Given the description of an element on the screen output the (x, y) to click on. 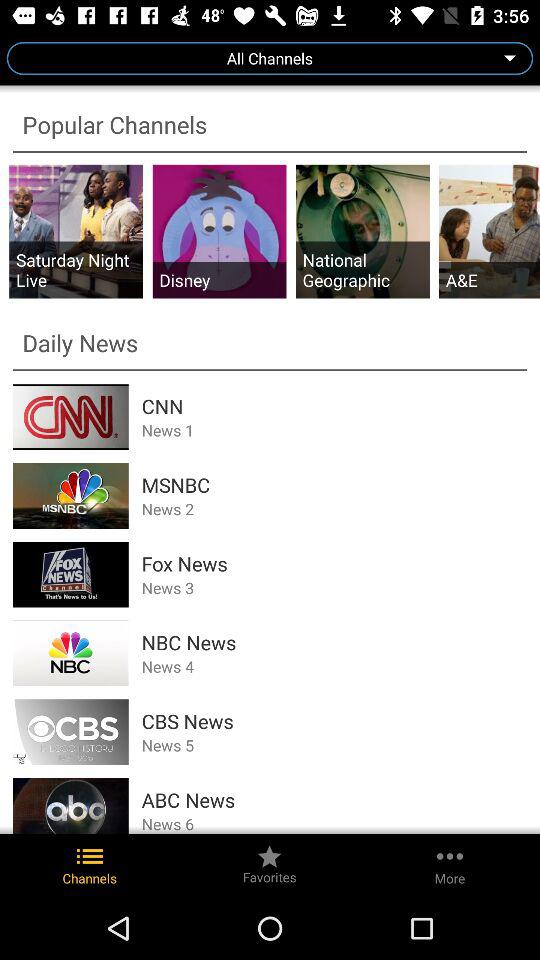
launch the app below the msnbc app (333, 508)
